Given the description of an element on the screen output the (x, y) to click on. 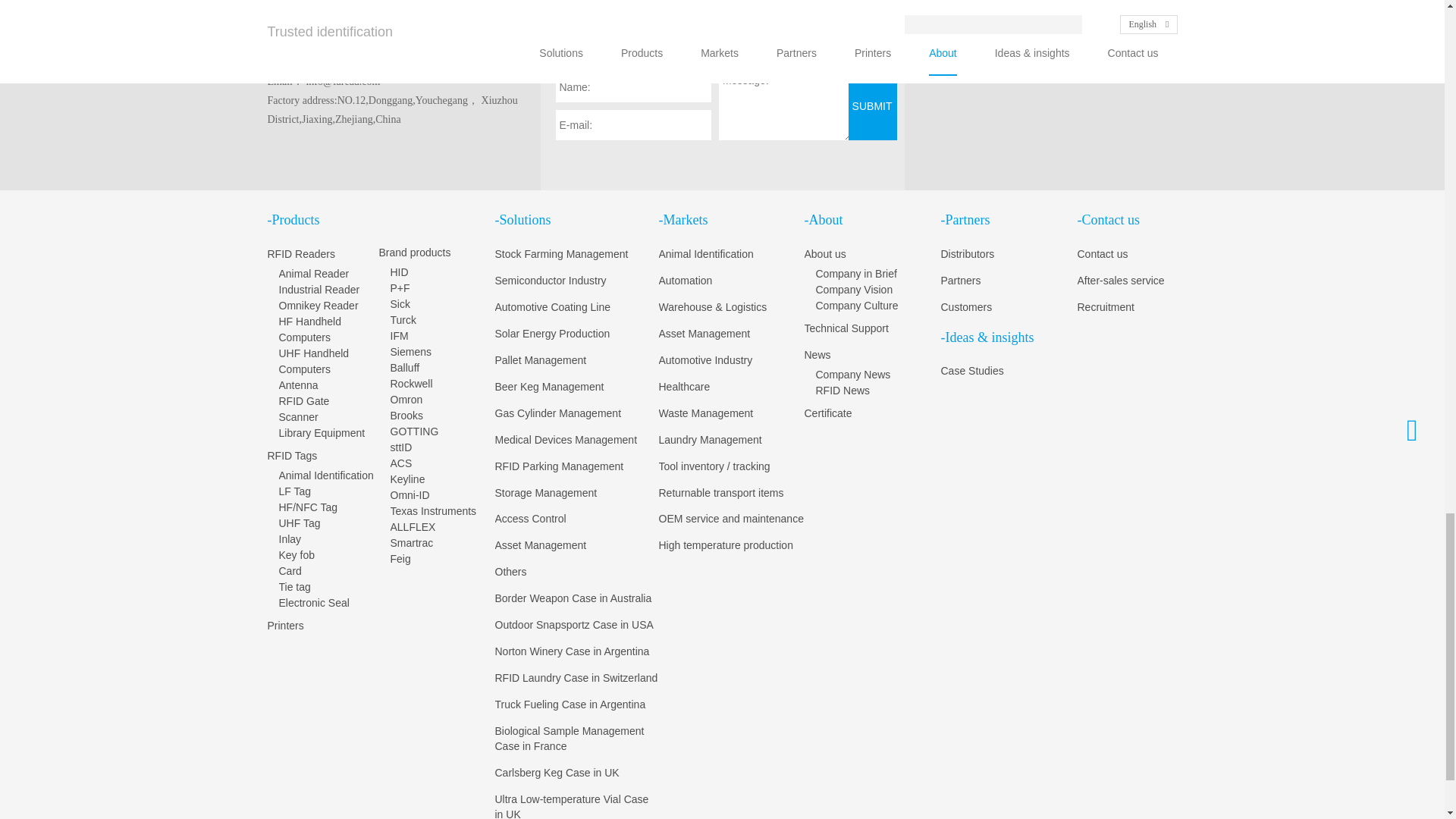
Submit (872, 106)
